Given the description of an element on the screen output the (x, y) to click on. 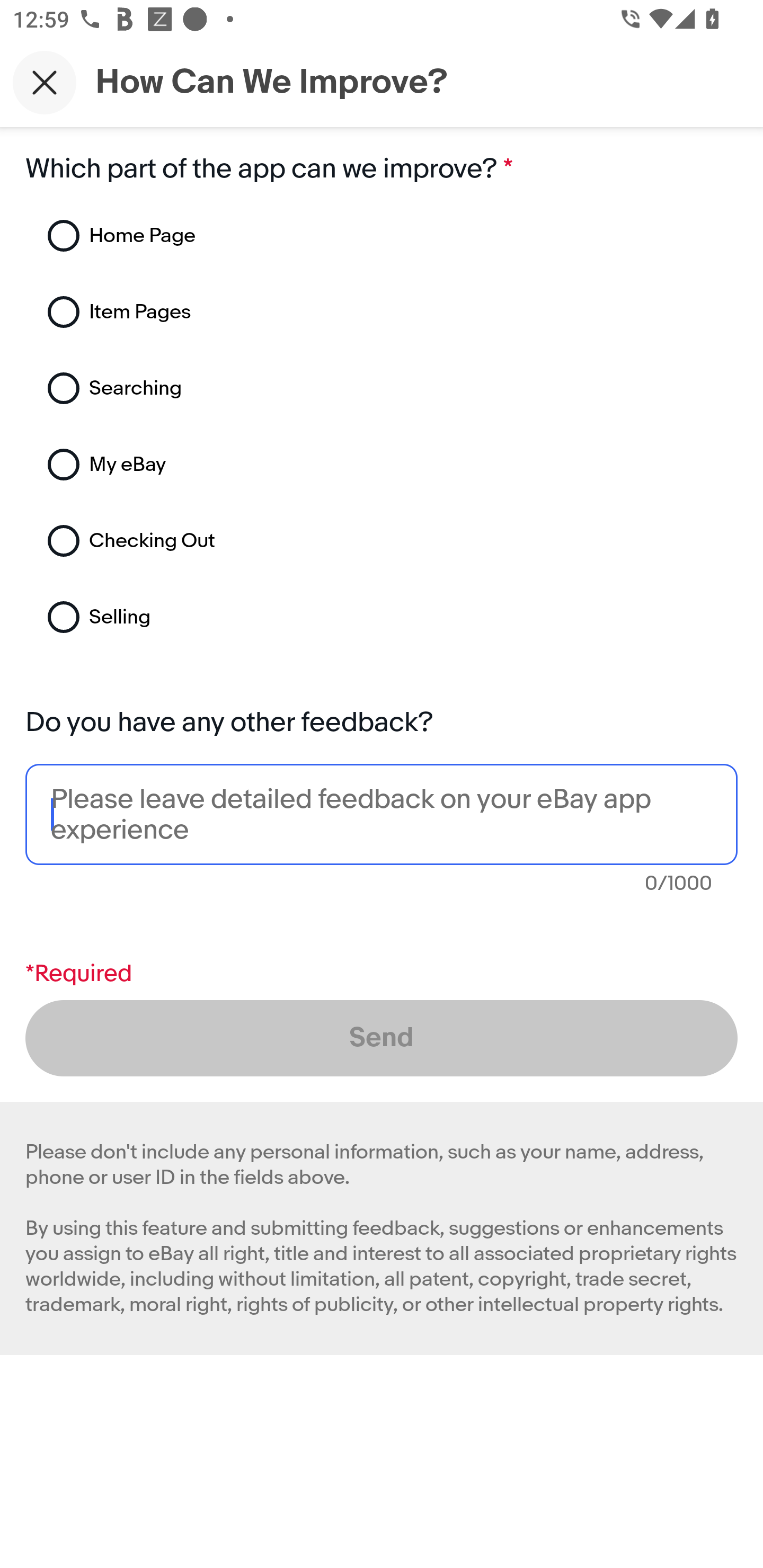
Close (44, 82)
Home Page (269, 235)
Item Pages (269, 311)
Searching (269, 387)
My eBay (269, 464)
Checking Out (269, 540)
Selling (269, 616)
Send (381, 1037)
